Given the description of an element on the screen output the (x, y) to click on. 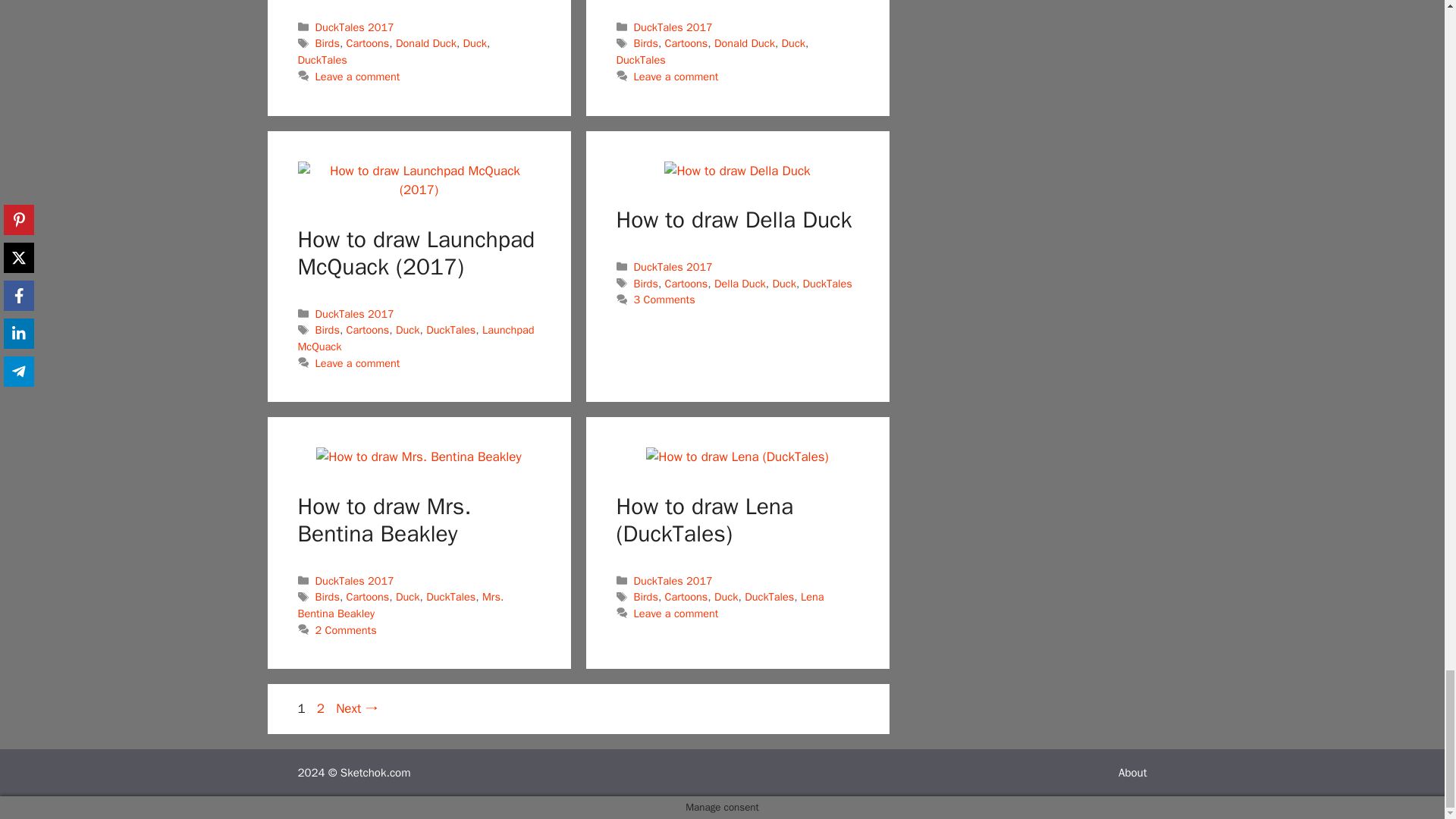
How to draw Della Duck (736, 170)
